Given the description of an element on the screen output the (x, y) to click on. 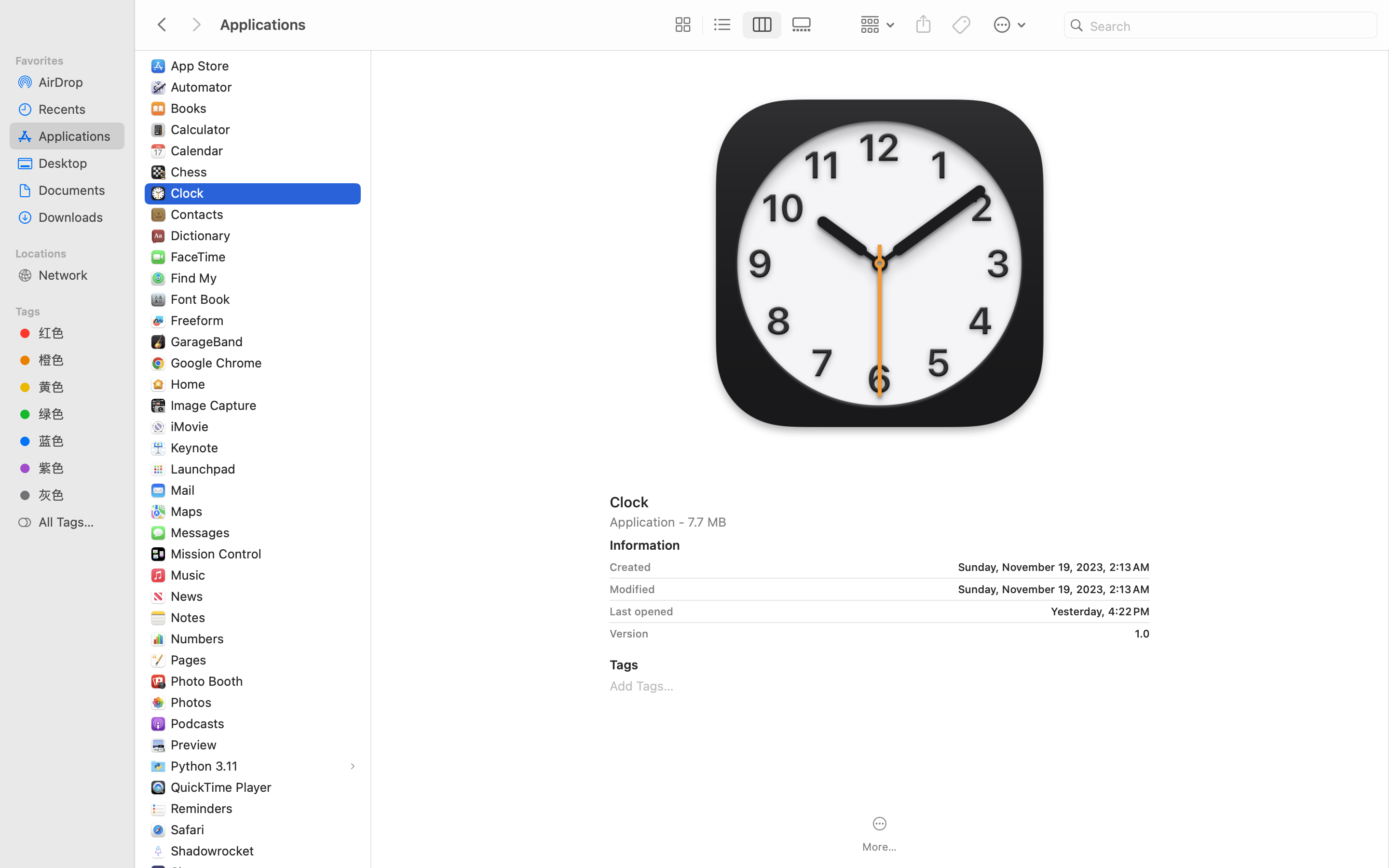
Mail Element type: AXTextField (184, 489)
Downloads Element type: AXStaticText (77, 216)
Music Element type: AXTextField (189, 574)
Chess Element type: AXTextField (190, 171)
Applications Element type: AXStaticText (437, 827)
